Given the description of an element on the screen output the (x, y) to click on. 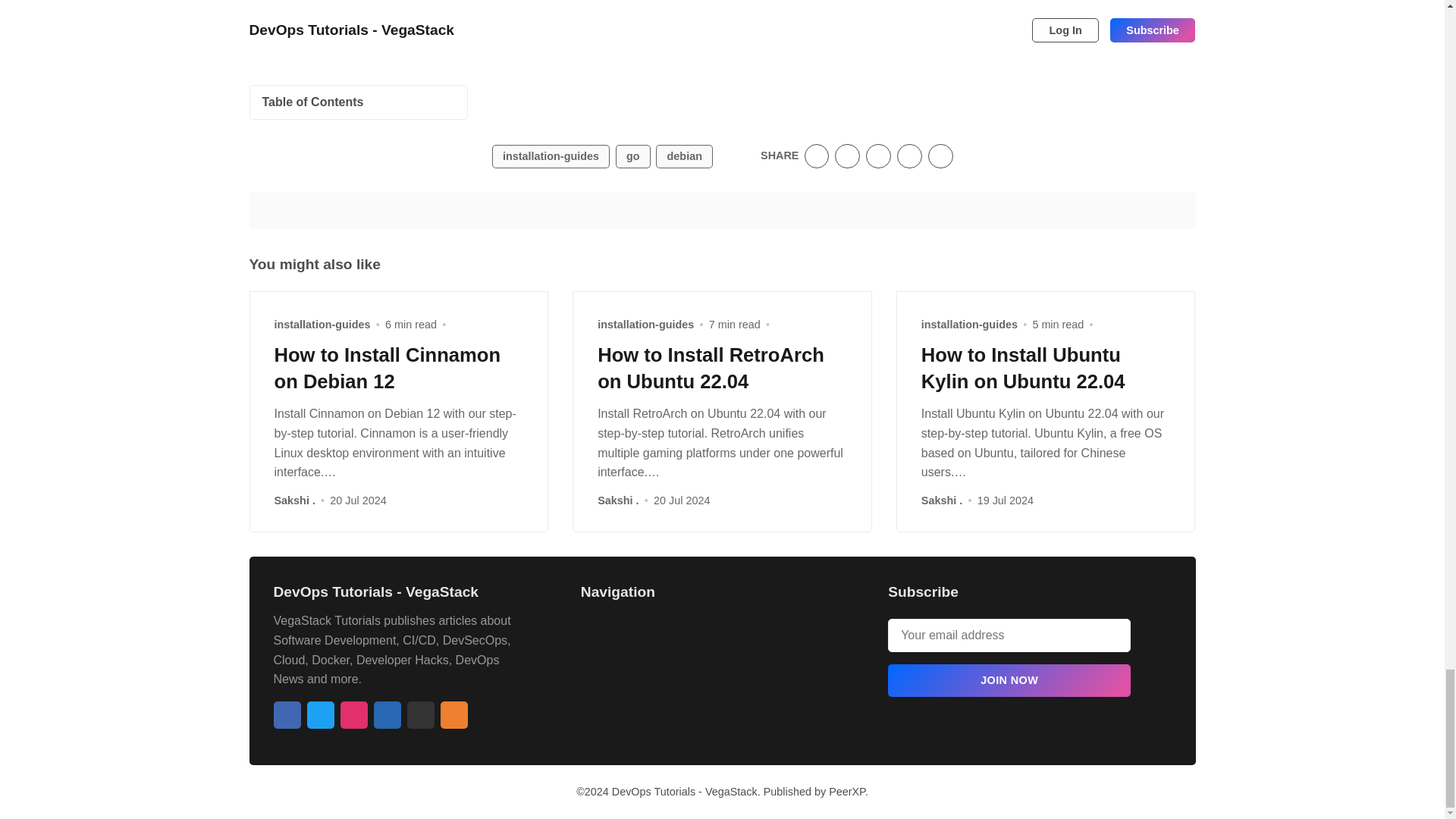
Linkedin (386, 714)
Facebook (286, 714)
installation-guides (551, 156)
Share by email (908, 156)
Share on Twitter (817, 156)
debian (684, 156)
Share on Facebook (847, 156)
Twitter (319, 714)
Share on Linkedin (878, 156)
Github (419, 714)
Copy to clipboard (940, 156)
go (632, 156)
Instagram (352, 714)
RSS (453, 714)
